Given the description of an element on the screen output the (x, y) to click on. 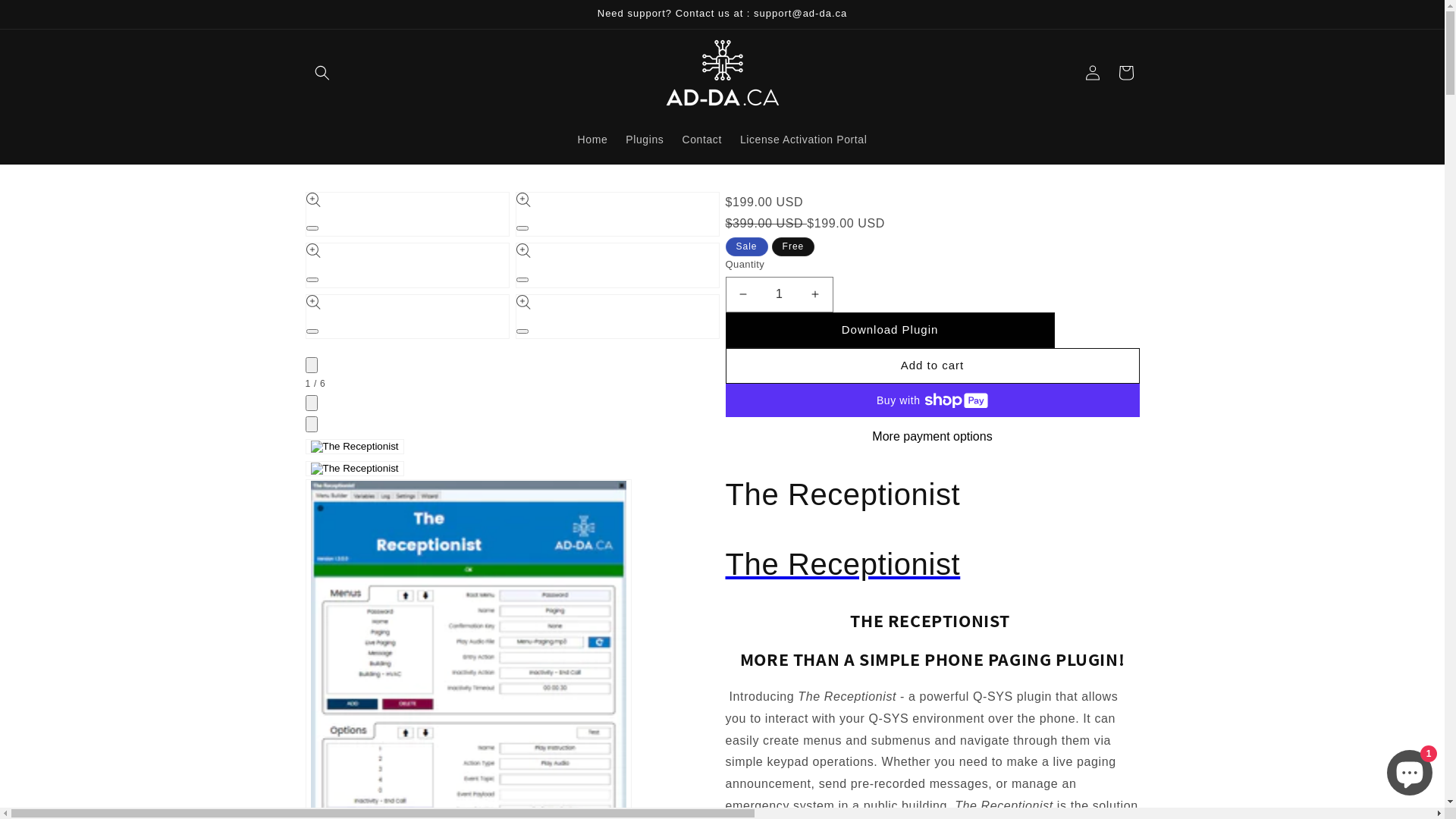
Add to cart Element type: text (931, 365)
Contact Element type: text (701, 138)
Skip to product information Element type: text (350, 208)
Log in Element type: text (1091, 72)
Need support? Contact us at : support@ad-da.ca Element type: text (721, 14)
Plugins Element type: text (644, 138)
More payment options Element type: text (931, 436)
Open media 6 in modal Element type: text (521, 331)
Open media 4 in modal Element type: text (521, 279)
Home Element type: text (592, 138)
Cart Element type: text (1125, 72)
The Receptionist Element type: text (931, 563)
Download Plugin Element type: text (889, 330)
Open media 1 in modal Element type: text (312, 227)
Open media 3 in modal Element type: text (312, 279)
Decrease quantity for The Receptionist Element type: text (743, 294)
License Activation Portal Element type: text (803, 138)
Increase quantity for The Receptionist Element type: text (814, 294)
Shopify online store chat Element type: hover (1409, 769)
Open media 2 in modal Element type: text (521, 227)
Open media 5 in modal Element type: text (312, 331)
